Given the description of an element on the screen output the (x, y) to click on. 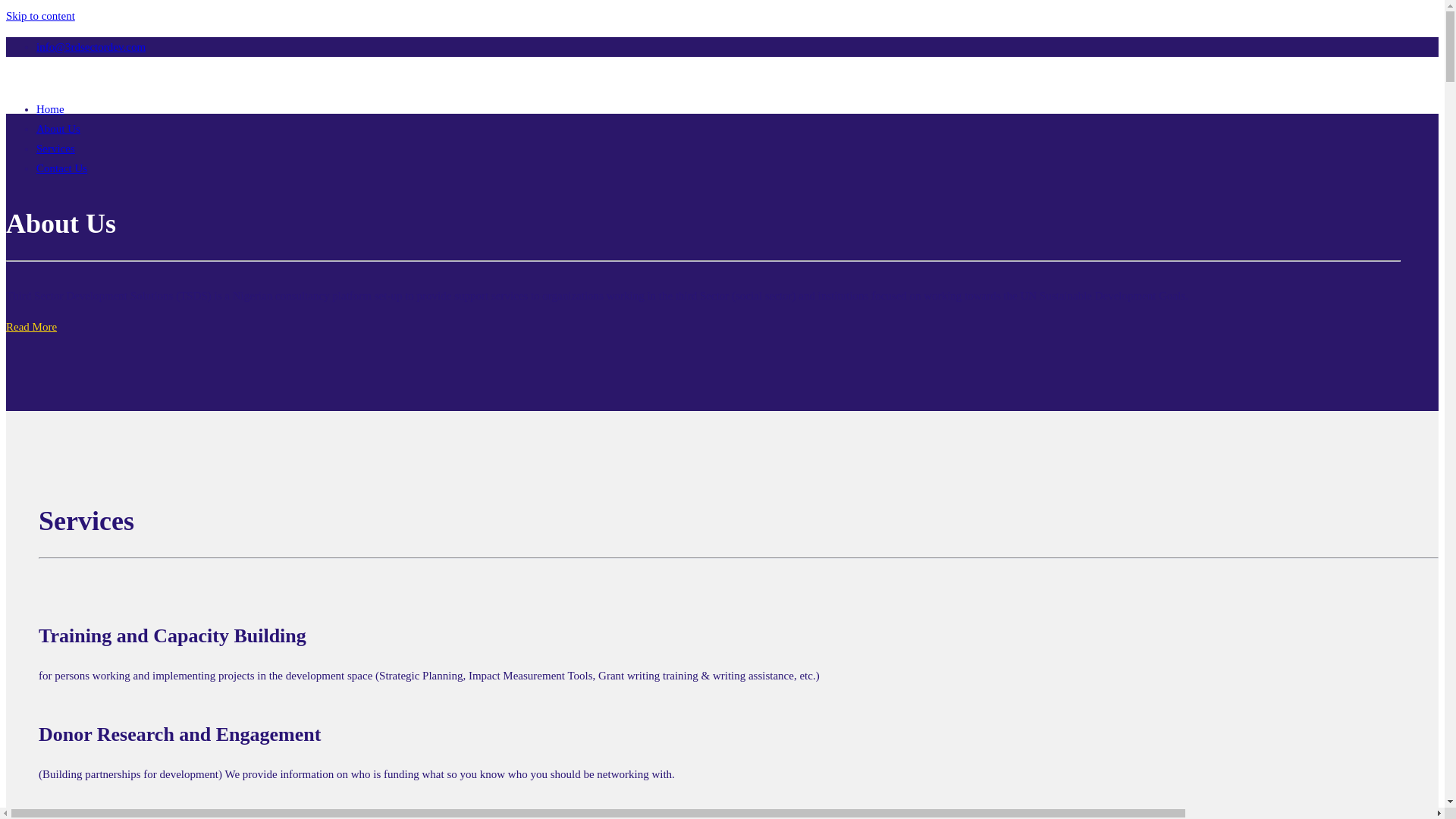
Contact Us Element type: text (61, 168)
About Us Element type: text (58, 128)
Services Element type: text (55, 148)
Home Element type: text (50, 109)
Skip to content Element type: text (40, 15)
info@3rdsectordev.com Element type: text (90, 46)
Read More Element type: text (31, 326)
